Given the description of an element on the screen output the (x, y) to click on. 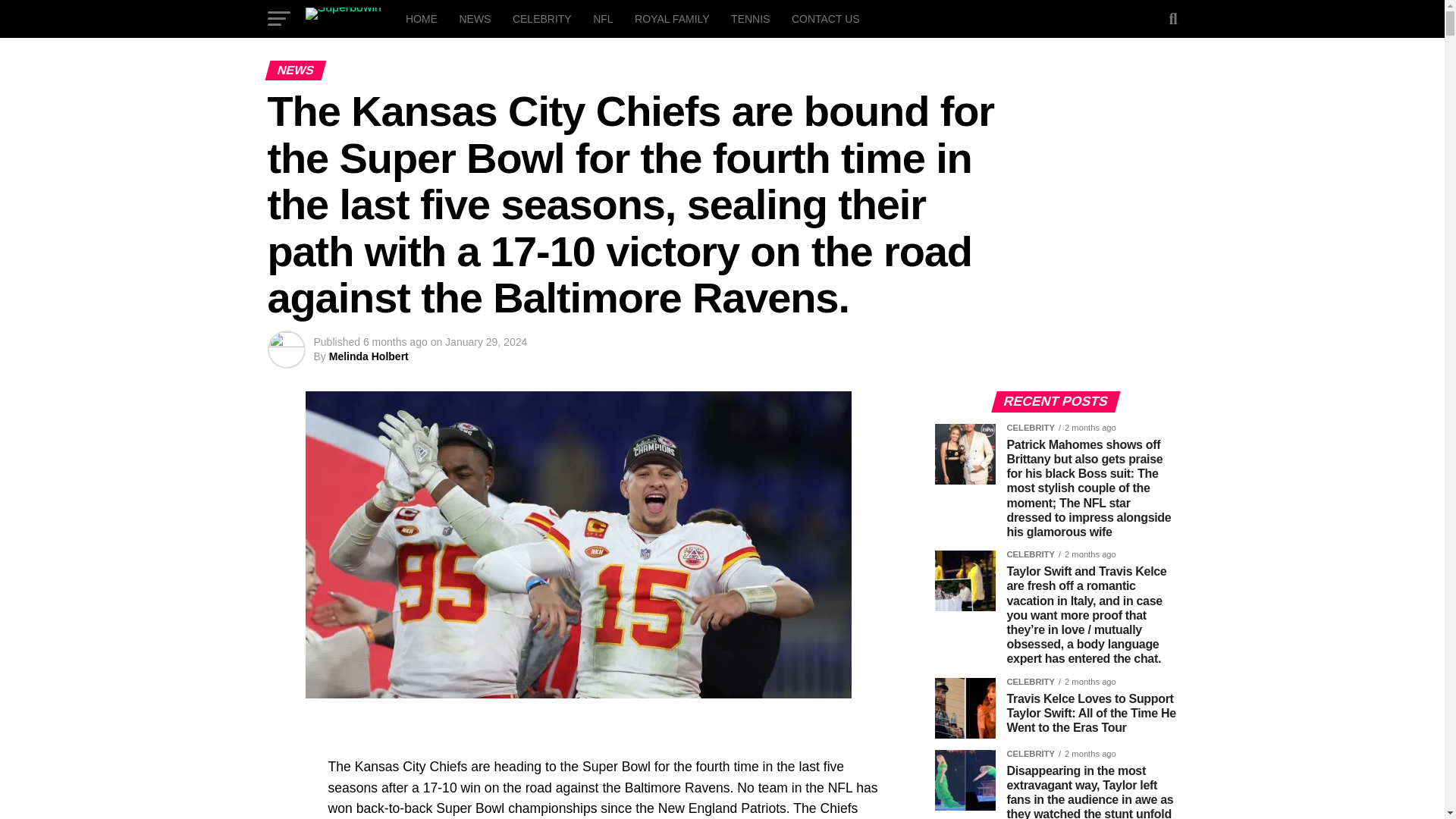
ROYAL FAMILY (672, 18)
Melinda Holbert (369, 356)
CELEBRITY (541, 18)
CONTACT US (826, 18)
Posts by Melinda Holbert (369, 356)
NEWS (474, 18)
HOME (421, 18)
NFL (602, 18)
TENNIS (750, 18)
RECENT POSTS (1056, 401)
